Given the description of an element on the screen output the (x, y) to click on. 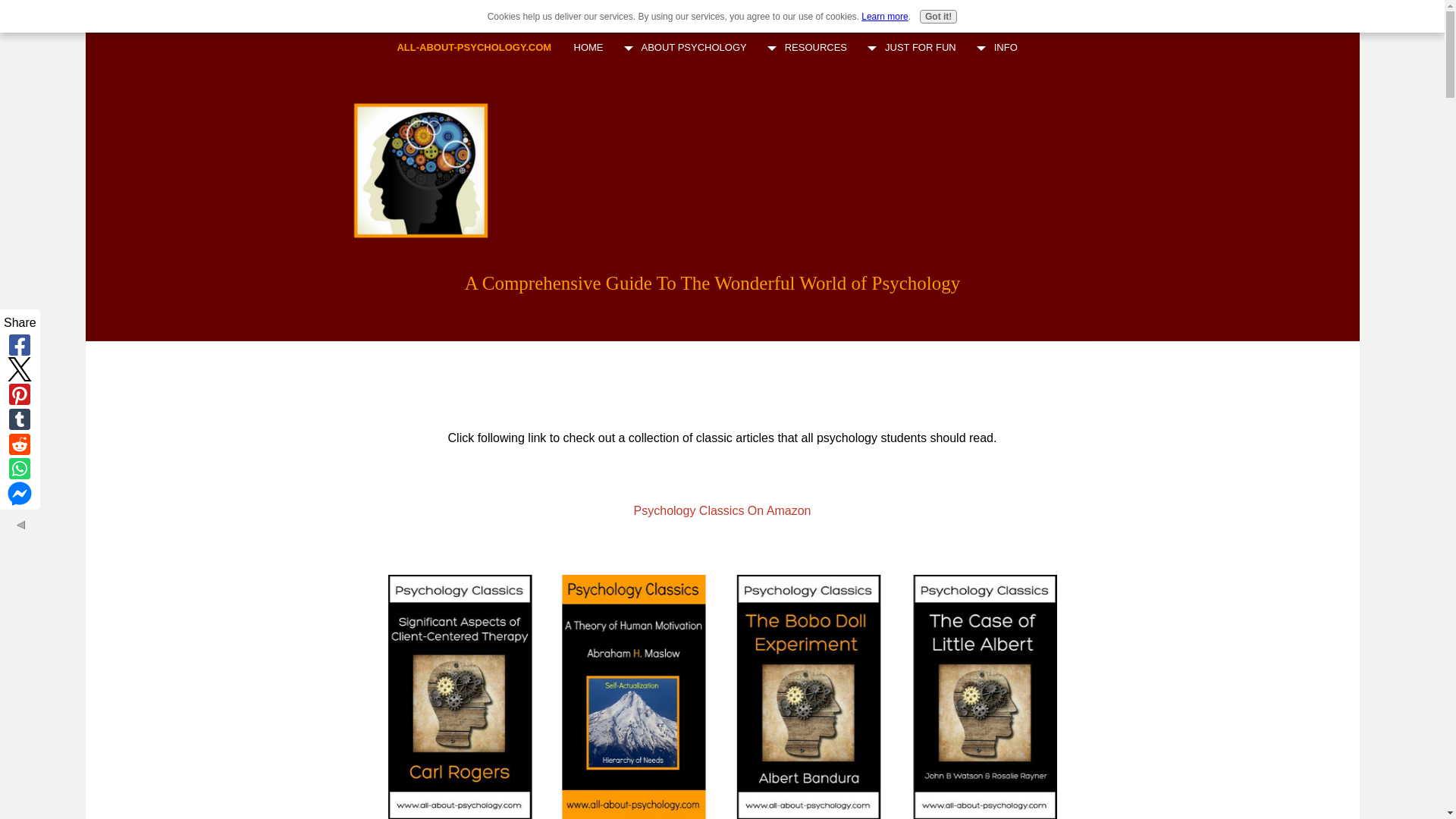
Psychology Classics On Amazon (721, 510)
ALL-ABOUT-PSYCHOLOGY.COM (473, 47)
HOME (588, 47)
